Given the description of an element on the screen output the (x, y) to click on. 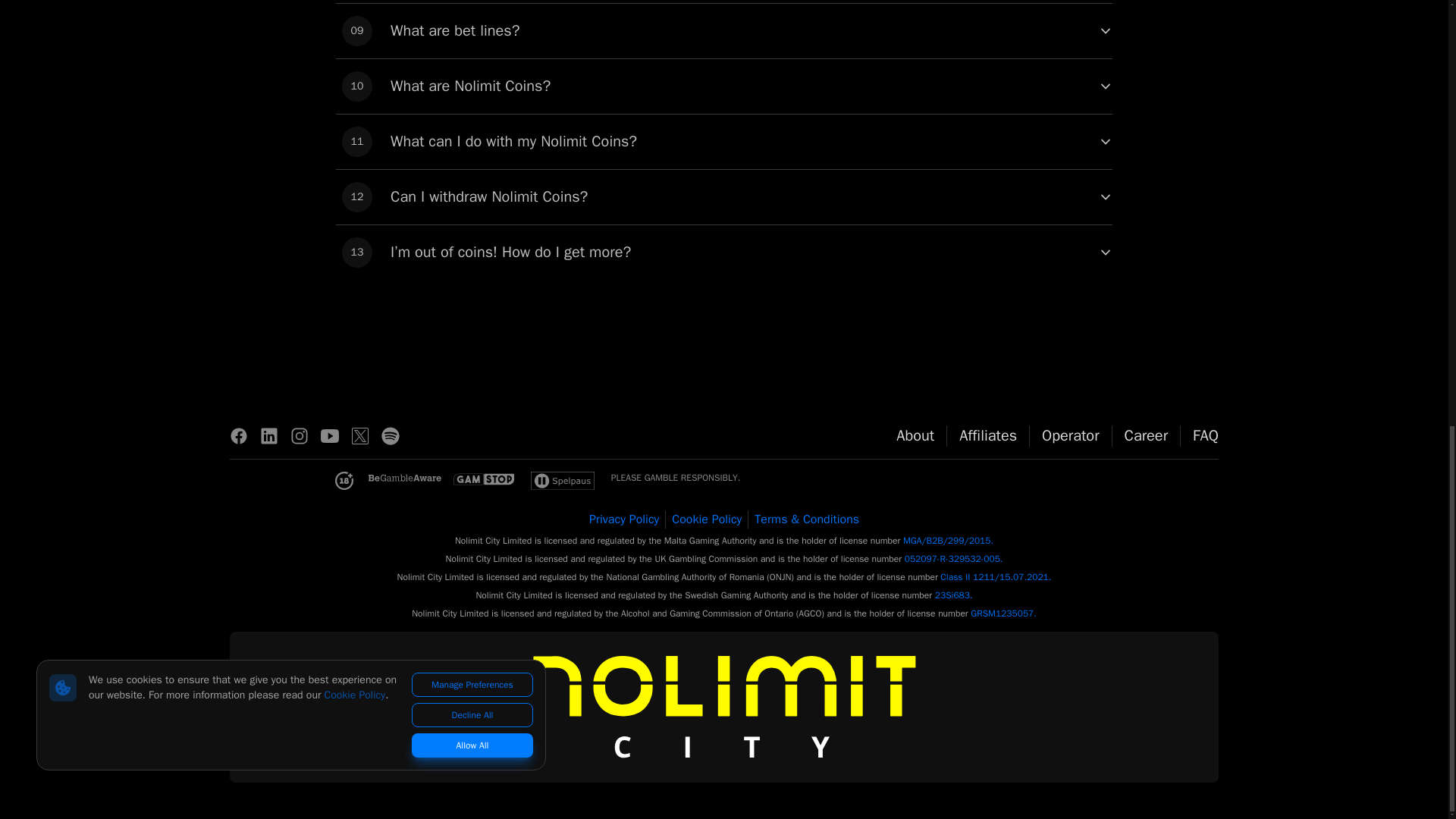
About (724, 196)
Operator (915, 435)
Affiliates (1070, 435)
Career (724, 85)
FAQ (987, 435)
